Given the description of an element on the screen output the (x, y) to click on. 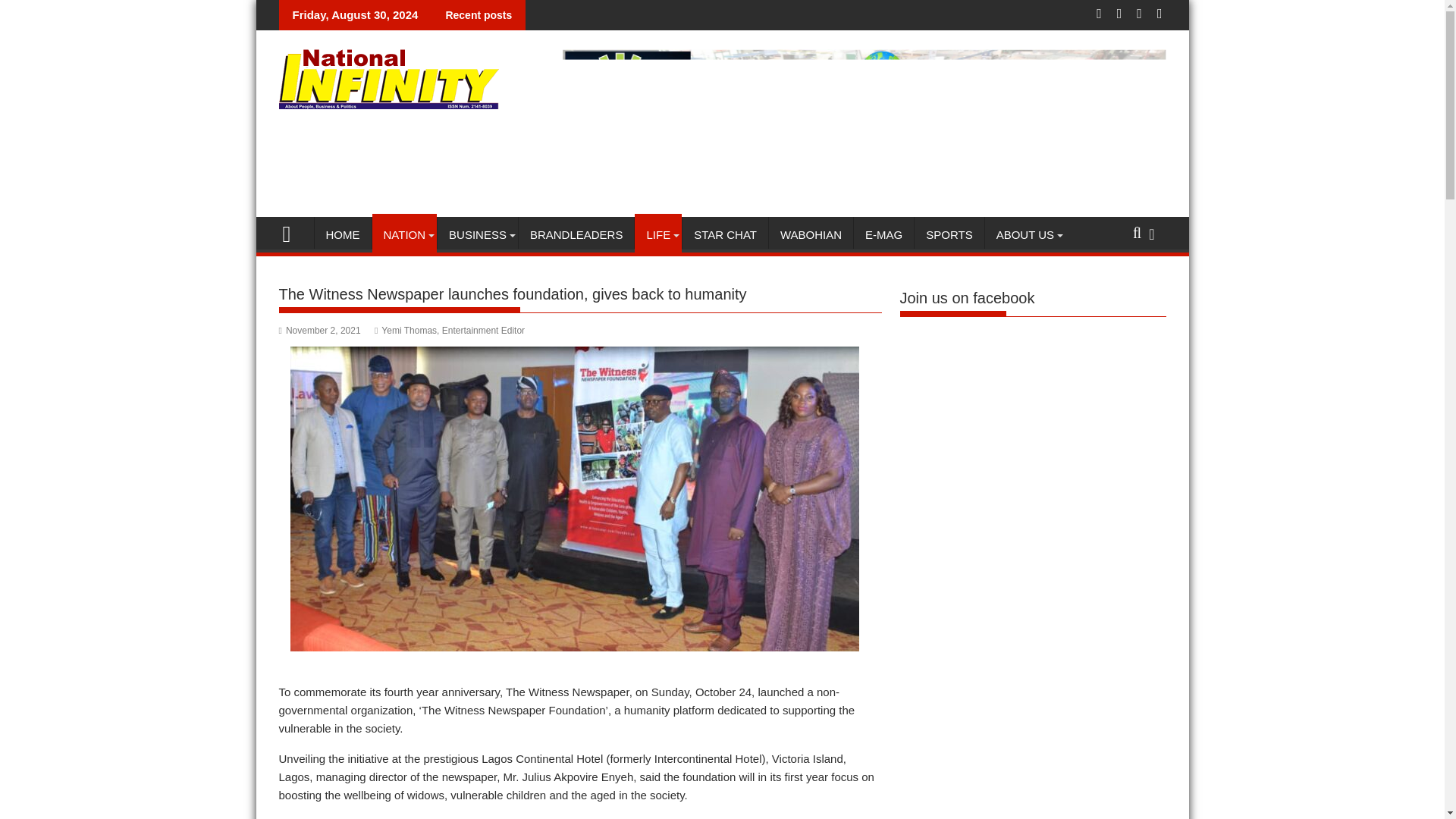
LIFE (657, 235)
National Infinity Magazine (293, 231)
E-MAG (883, 235)
BRANDLEADERS (576, 235)
WABOHIAN (810, 235)
SPORTS (949, 235)
ABOUT US (1025, 235)
STAR CHAT (725, 235)
NATION (403, 235)
November 2, 2021 (320, 330)
